Given the description of an element on the screen output the (x, y) to click on. 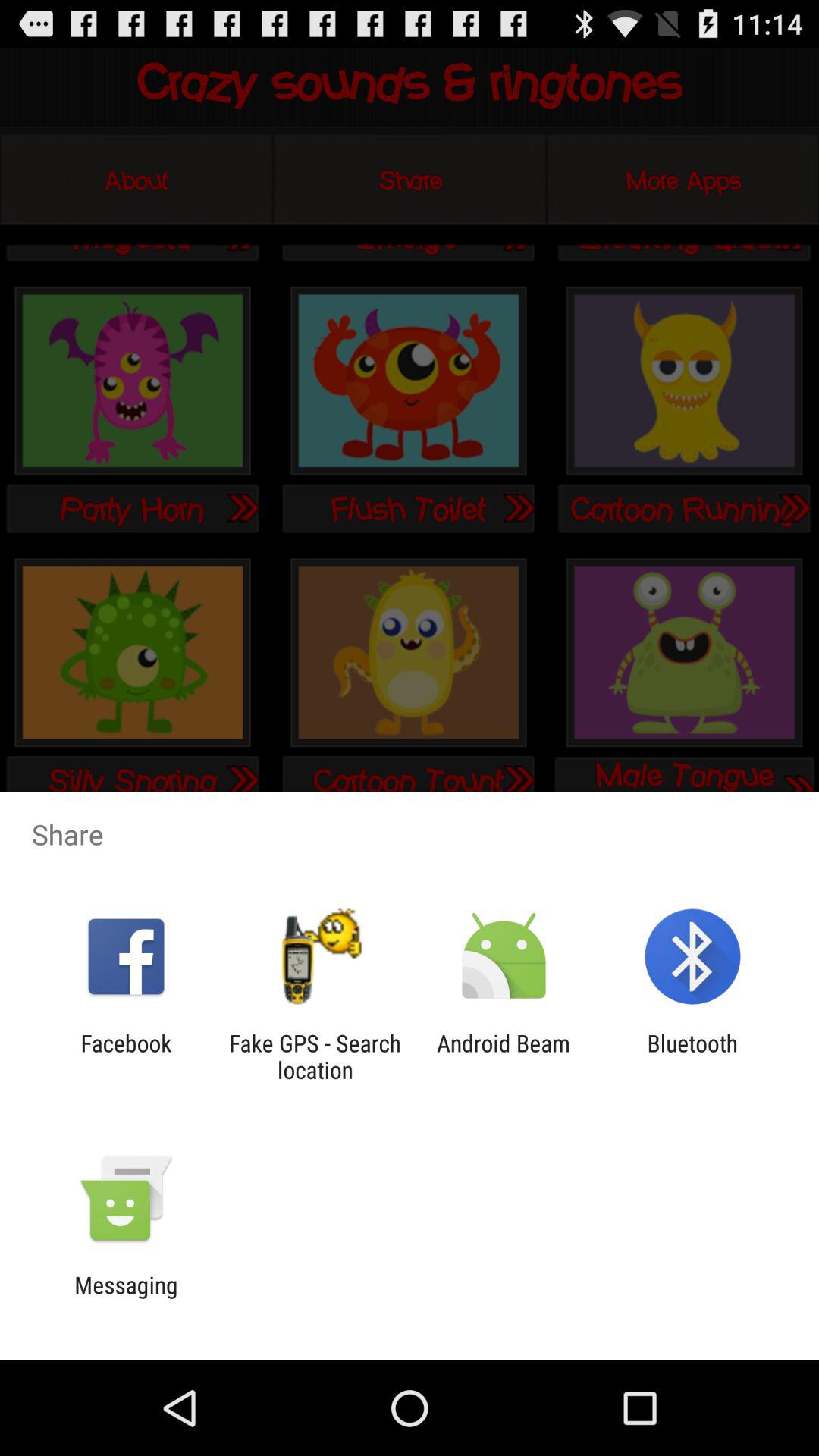
press item to the right of android beam icon (692, 1056)
